Given the description of an element on the screen output the (x, y) to click on. 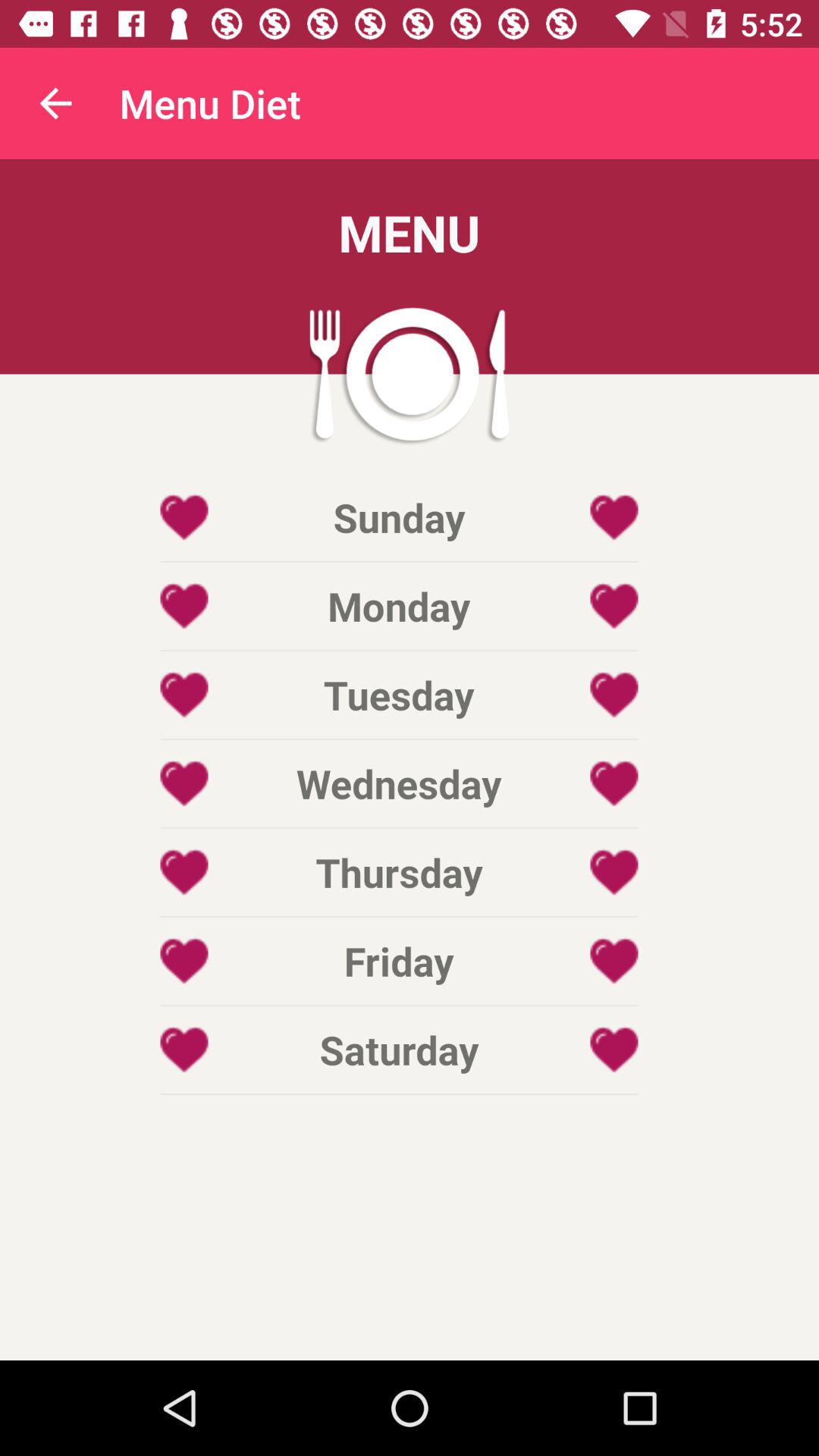
tap the item below the tuesday (398, 783)
